Given the description of an element on the screen output the (x, y) to click on. 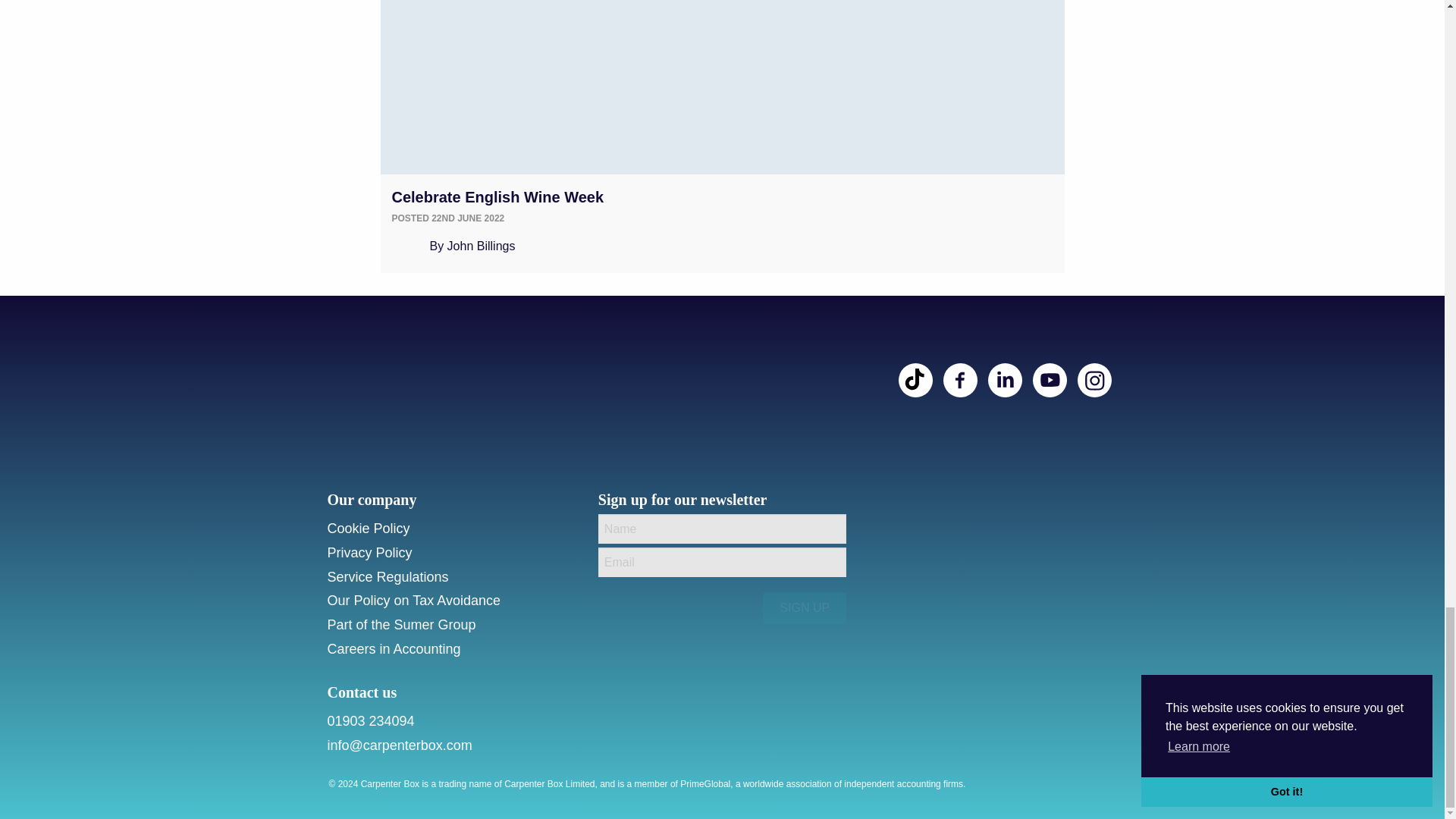
scg-instagram (1094, 380)
Sign Up (803, 608)
